Given the description of an element on the screen output the (x, y) to click on. 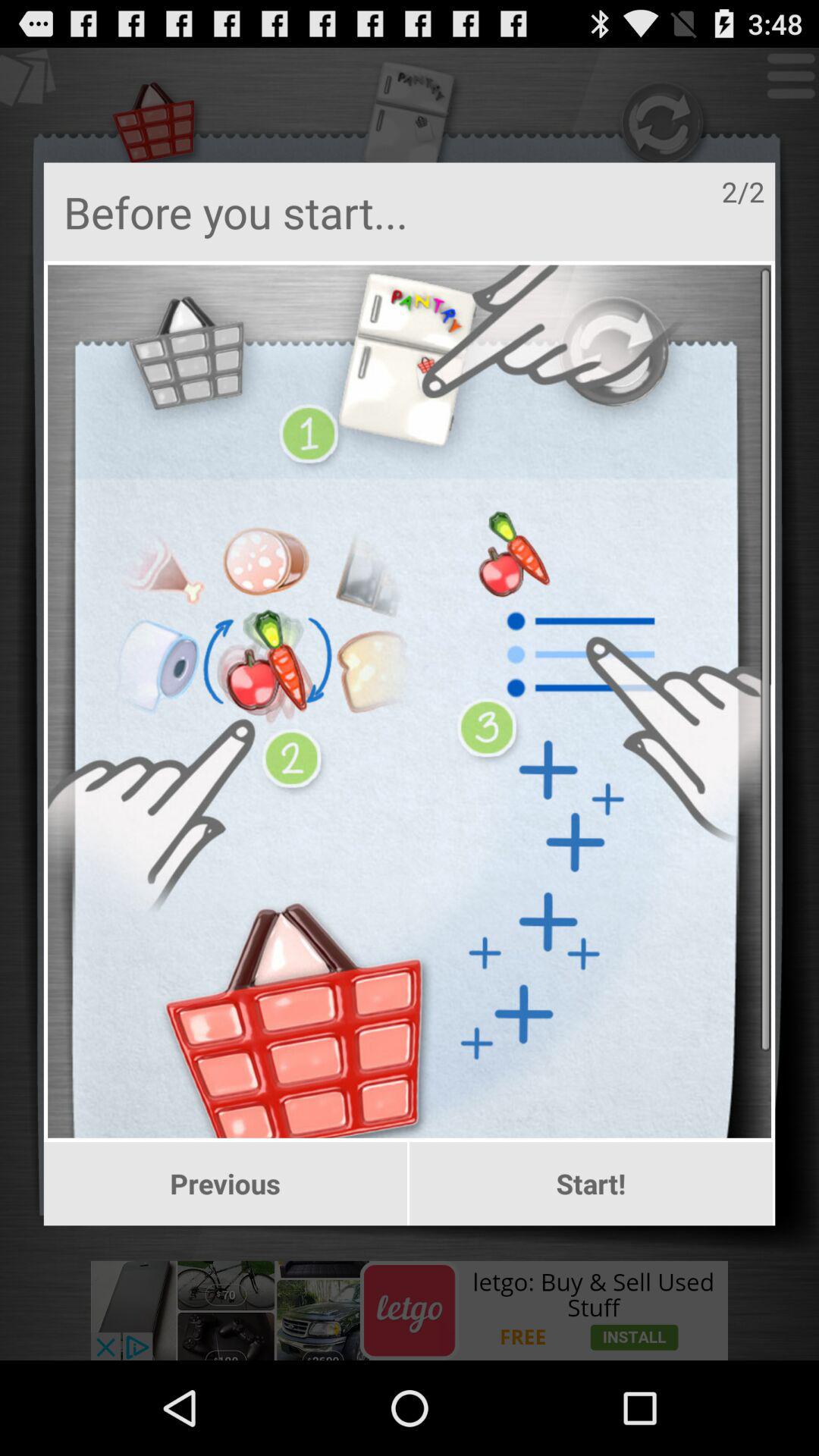
launch previous item (225, 1183)
